Given the description of an element on the screen output the (x, y) to click on. 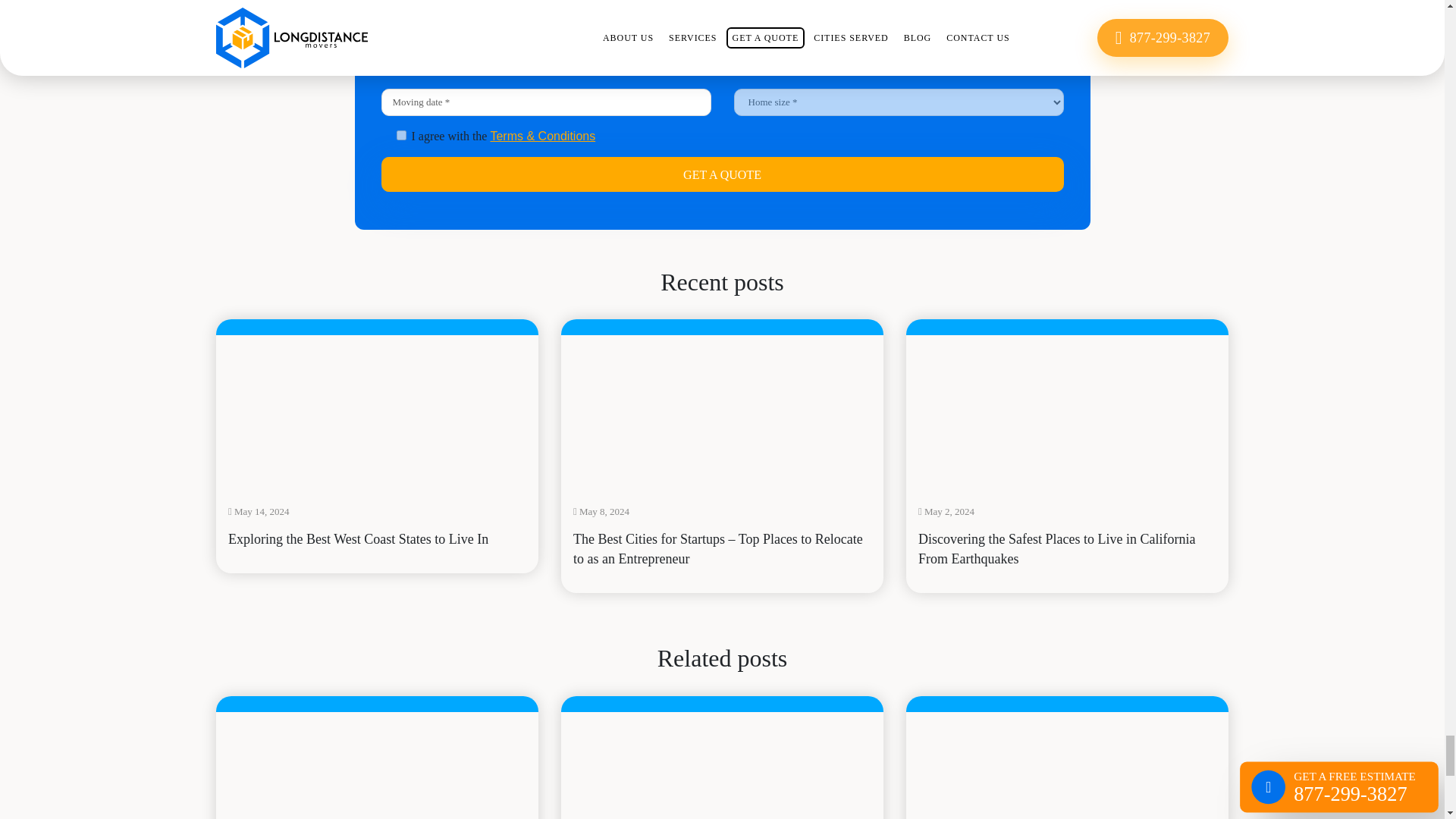
1 (401, 135)
get a quote (721, 174)
